Given the description of an element on the screen output the (x, y) to click on. 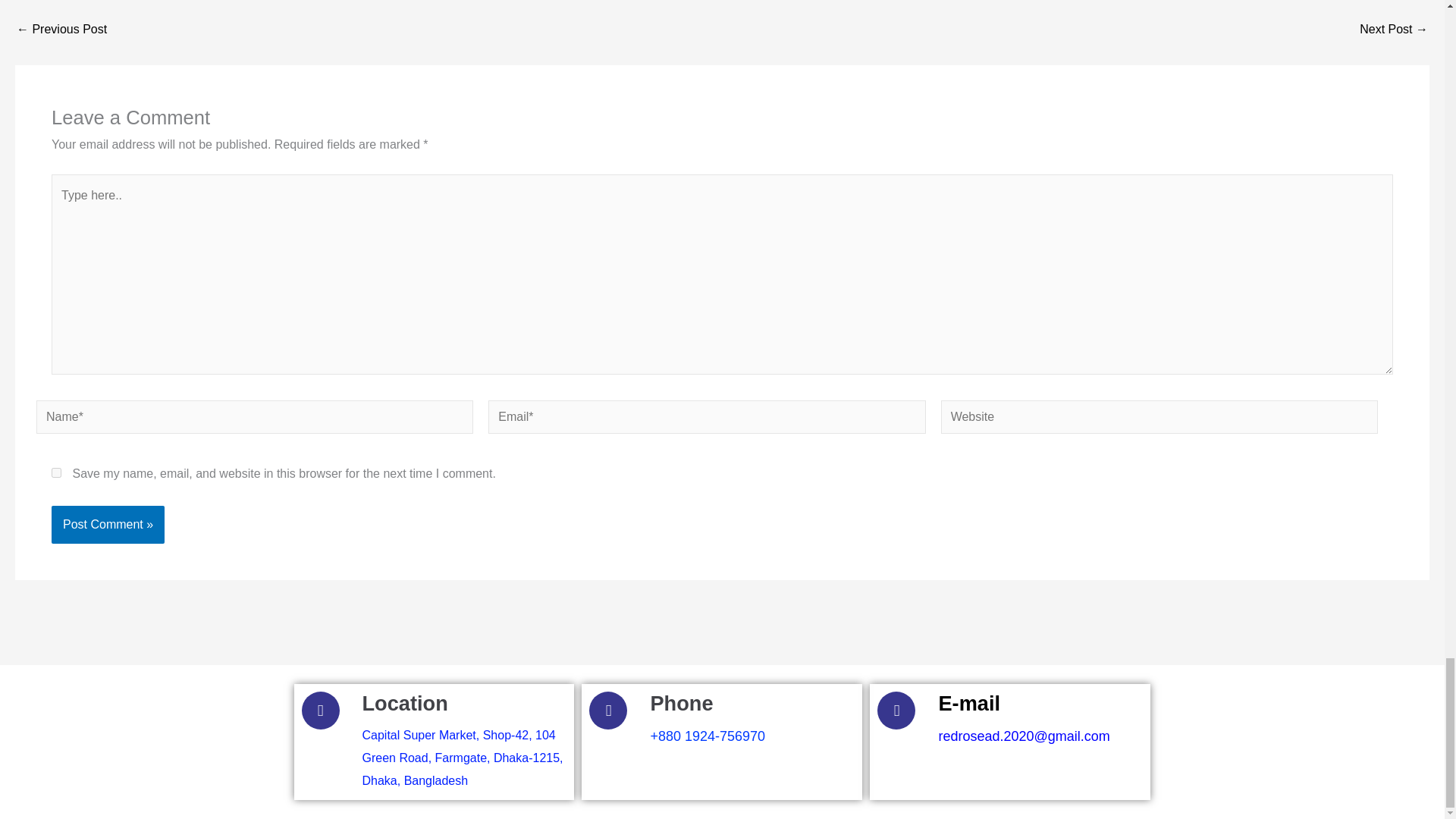
yes (55, 472)
Welcome Enterprise ss bata model Led Letter Signage in BD (61, 29)
Best Acrylic letter indoor signage in Bangladesh (1393, 29)
